Given the description of an element on the screen output the (x, y) to click on. 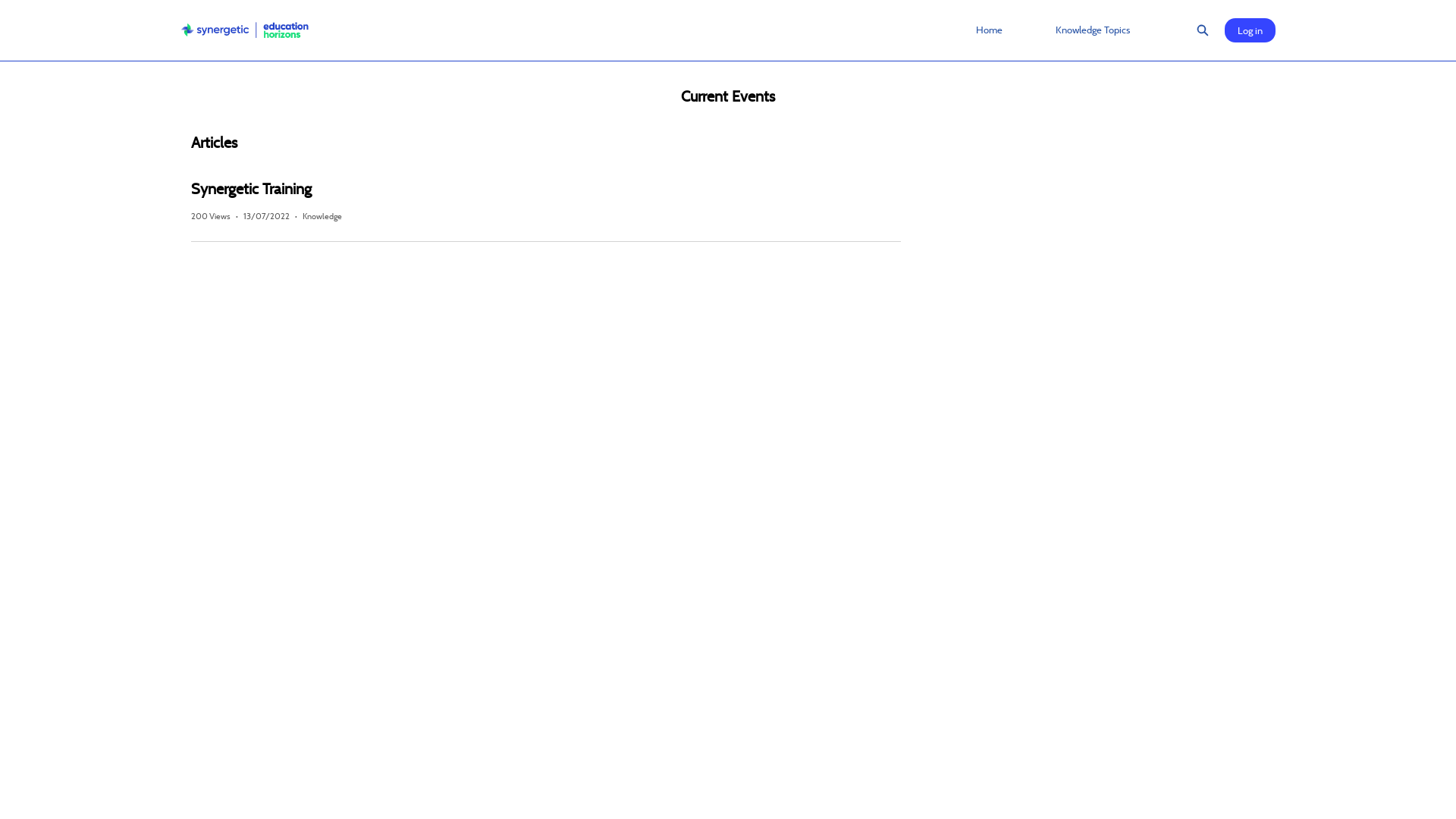
Skip to Main Content Element type: text (9, 4)
Log in Element type: text (1248, 30)
Synergetic Support Element type: text (244, 29)
Expand search Element type: text (1201, 29)
Synergetic Training Element type: text (545, 188)
Knowledge Topics Element type: text (1091, 29)
Home Element type: text (989, 29)
